Given the description of an element on the screen output the (x, y) to click on. 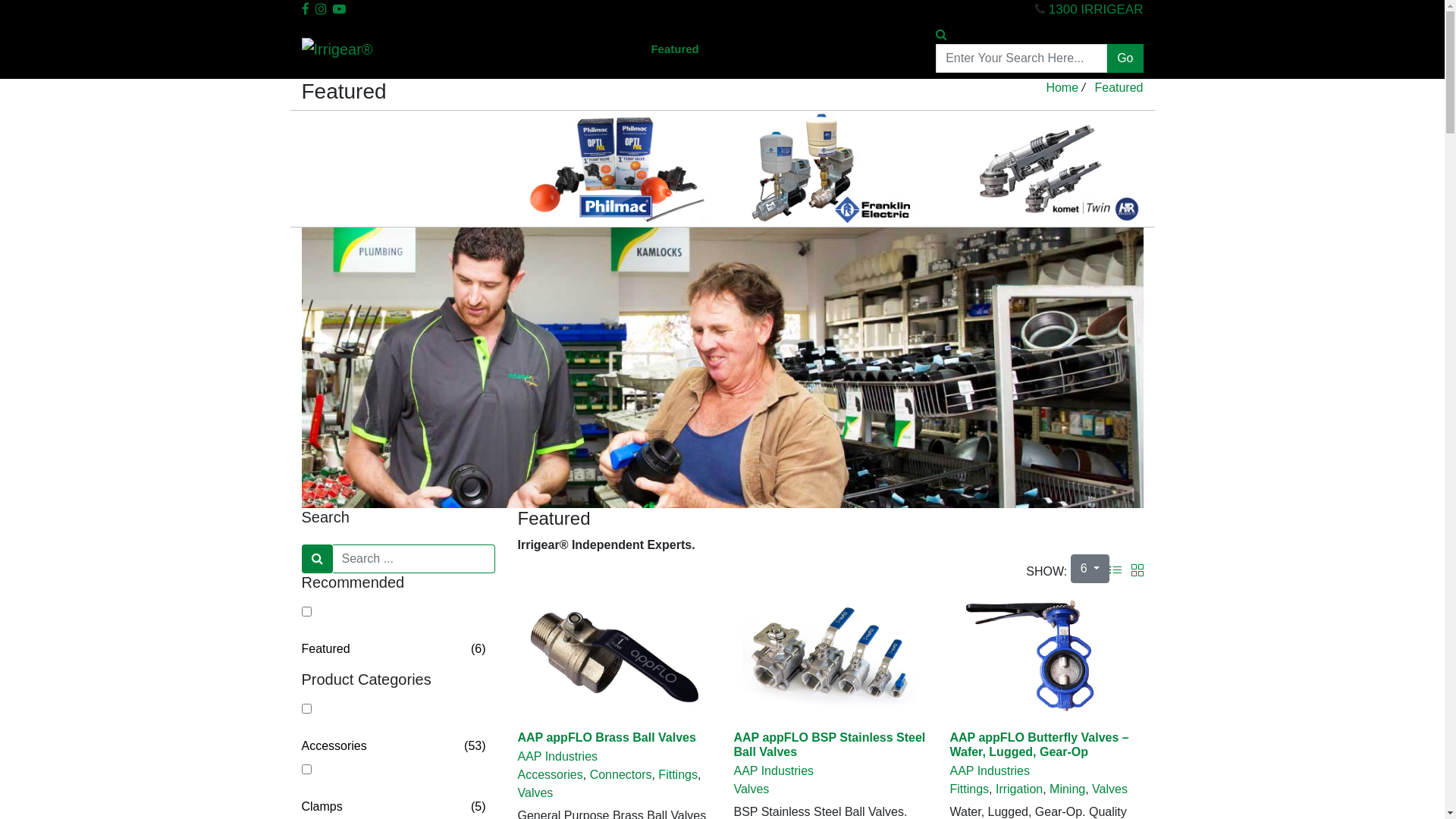
Home Element type: text (1061, 87)
Contact Us Element type: text (804, 48)
Accessories Element type: text (549, 774)
Featured Element type: text (674, 48)
6 Element type: text (1089, 568)
Irrigation Element type: text (1018, 789)
AAP Industries Element type: text (1045, 771)
AAP appFLO Brass Ball Valves Element type: text (606, 737)
Go Element type: text (1124, 57)
Why Irrigear Element type: text (529, 48)
Mining Element type: text (1067, 789)
AAP appFLO BSP Stainless Steel Ball Valves Element type: text (829, 744)
Valves Element type: text (1109, 789)
Store Locator Element type: text (890, 48)
1300 IRRIGEAR Element type: text (1095, 9)
AAP Industries Element type: text (829, 771)
Fittings Element type: text (968, 789)
Valves Element type: text (534, 793)
Solutions Element type: text (606, 48)
Connectors Element type: text (620, 774)
Brands Element type: text (736, 48)
Valves Element type: text (750, 789)
AAP Industries Element type: text (613, 756)
Fittings Element type: text (677, 774)
Home Element type: text (462, 48)
